Given the description of an element on the screen output the (x, y) to click on. 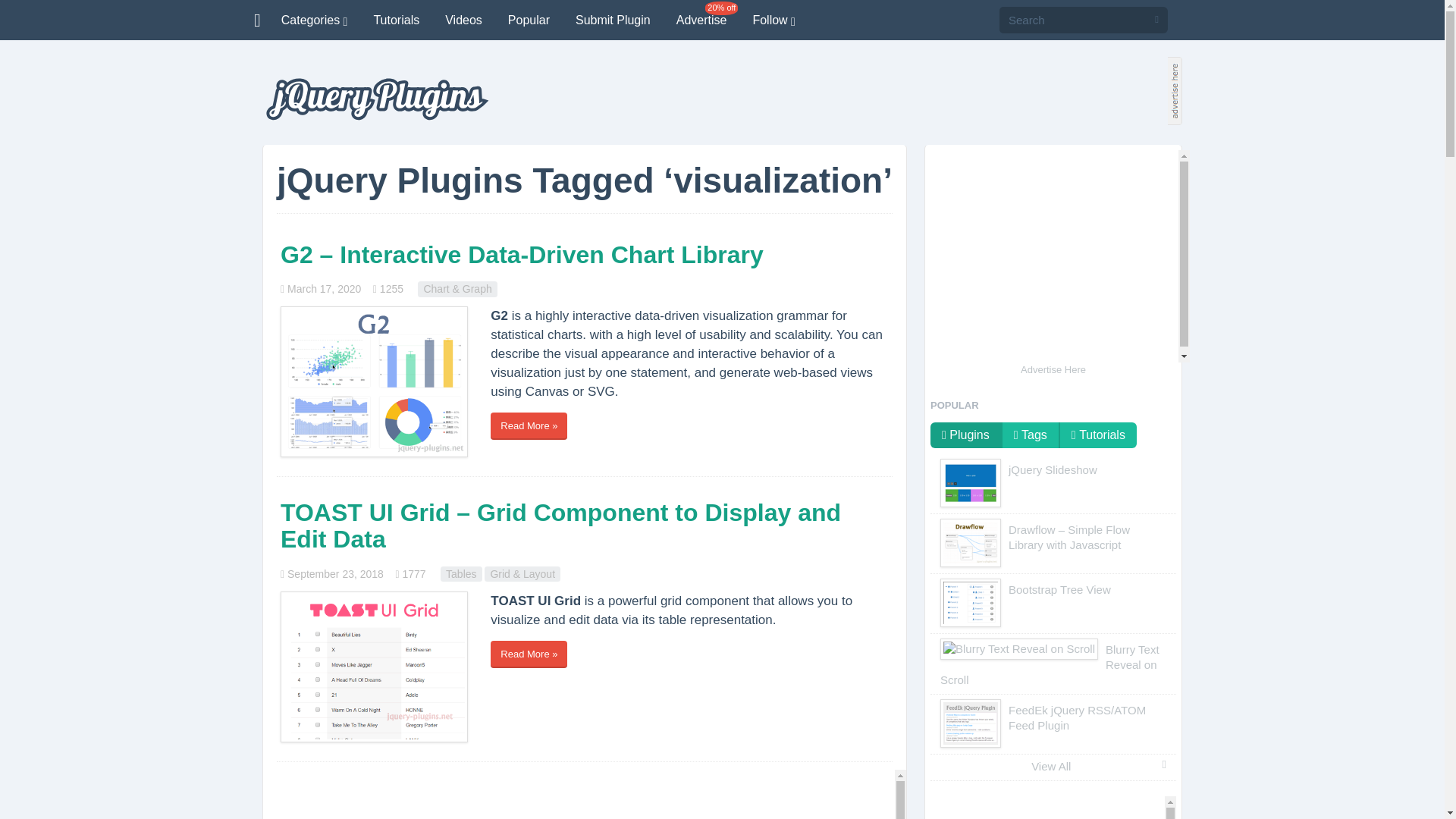
Popular (528, 20)
Advertisement (584, 794)
Categories (314, 20)
Videos (463, 20)
Tutorials (395, 20)
Submit Plugin (612, 20)
Advertisement (1053, 255)
